Given the description of an element on the screen output the (x, y) to click on. 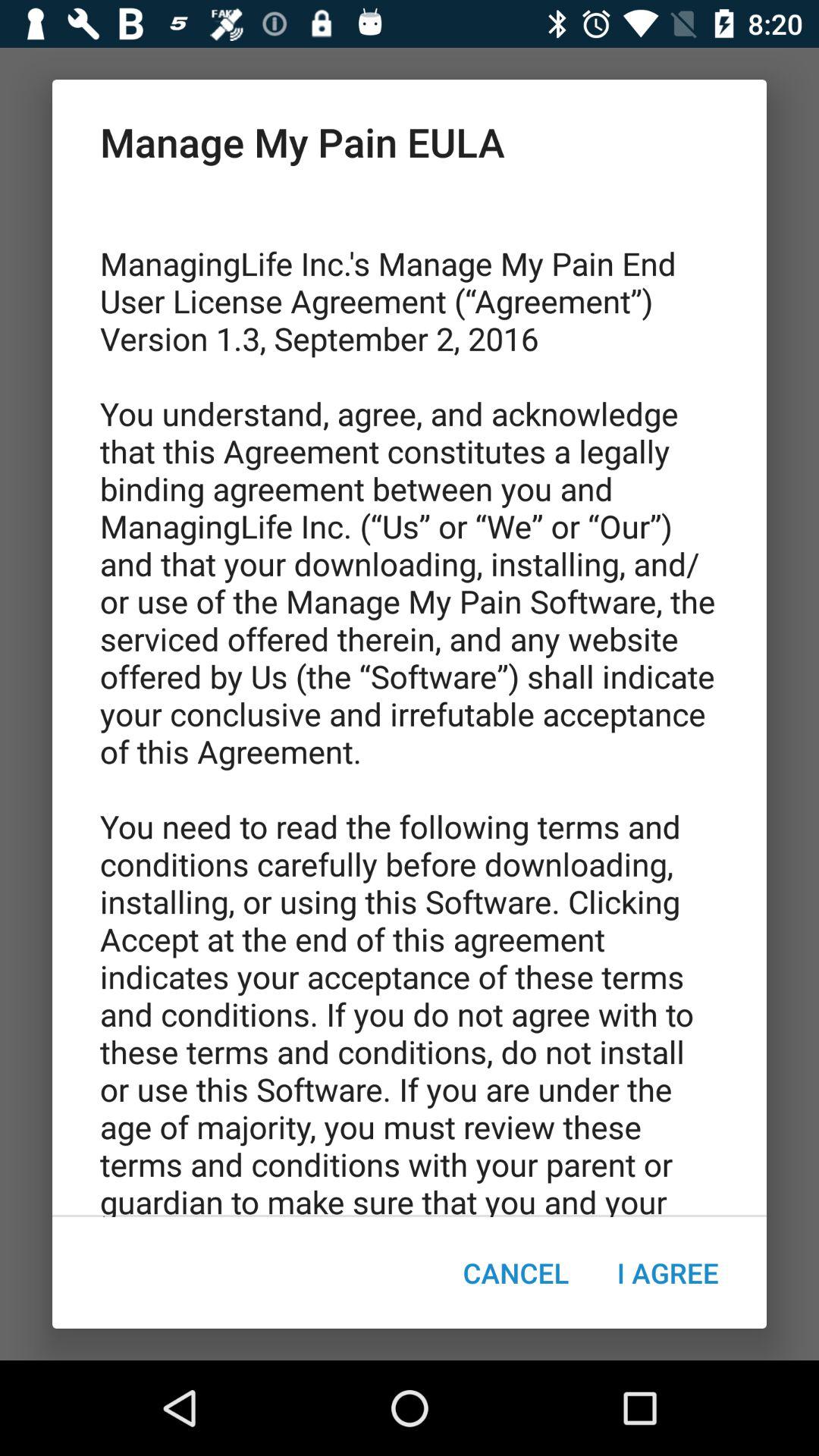
launch icon below the managinglife inc s icon (667, 1272)
